Given the description of an element on the screen output the (x, y) to click on. 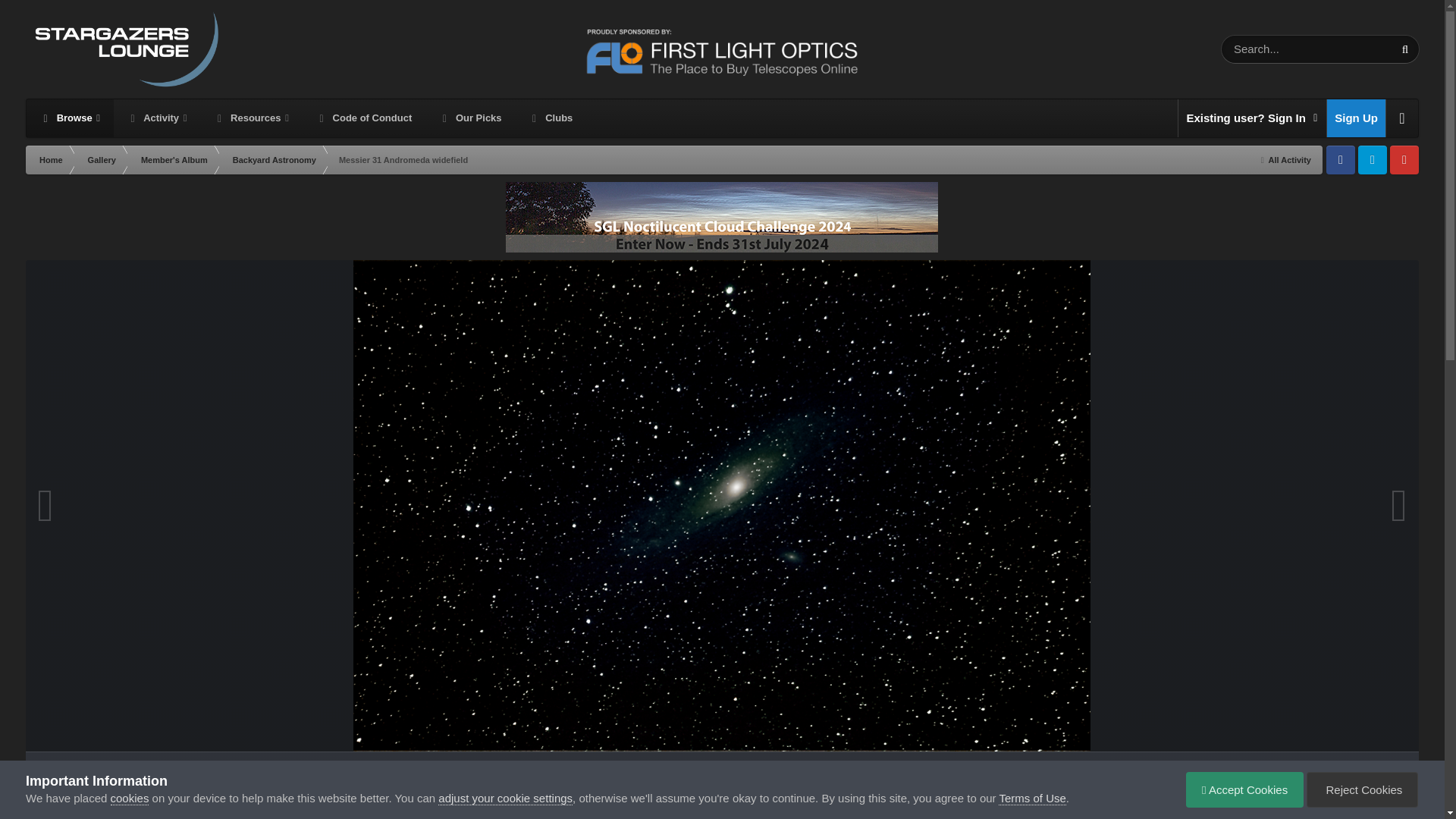
View the image Andromeda Galaxy Lightwave 66 Neilspikes (339, 794)
Code of Conduct (363, 118)
View the image Supernova SN 2014J anno (811, 794)
Activity (156, 118)
View the image Running Man Fin (441, 794)
Home (50, 159)
View the image M15 (616, 794)
View the image The Great Orion Nebula (529, 794)
Resources (250, 118)
View the image Messier 31 Andromeda widefield (718, 794)
View the image Messier 35 (1104, 794)
Our Picks (470, 118)
Browse (69, 118)
